Given the description of an element on the screen output the (x, y) to click on. 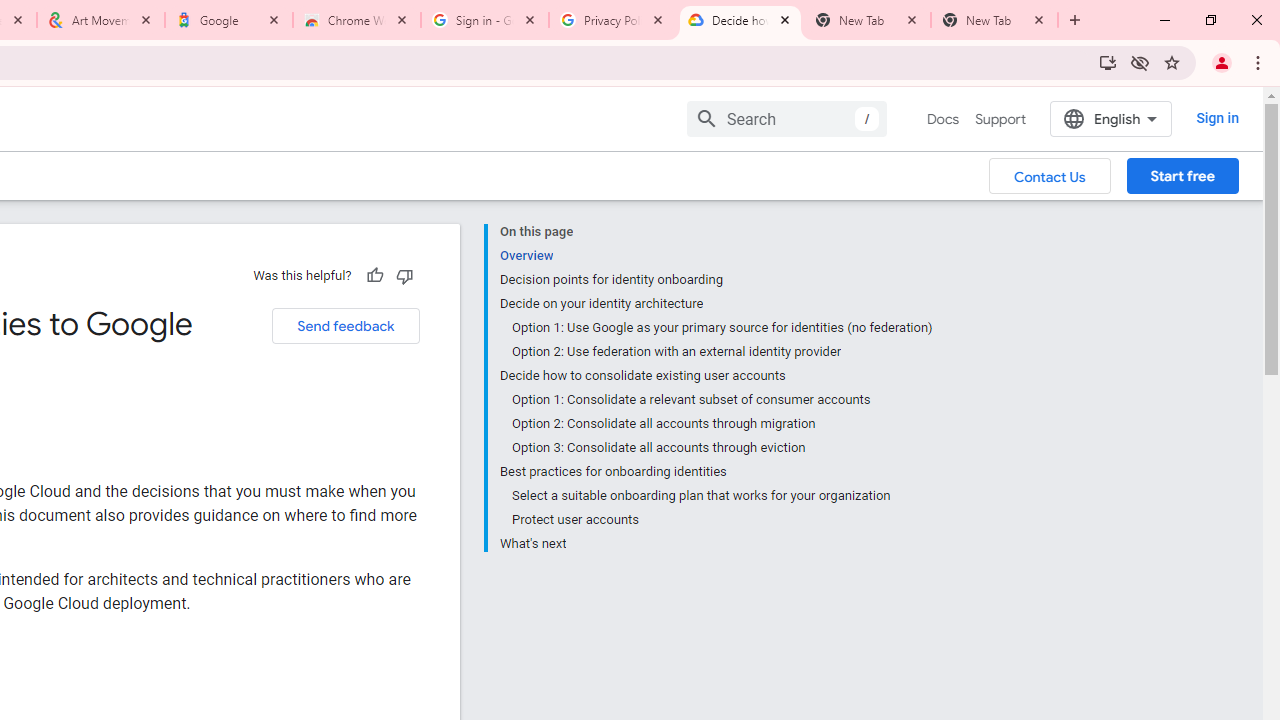
New Tab (994, 20)
Contact Us (1050, 175)
Protect user accounts (721, 520)
Decision points for identity onboarding (716, 279)
Not helpful (404, 275)
Install Google Cloud (1107, 62)
Chrome Web Store - Color themes by Chrome (357, 20)
Option 1: Consolidate a relevant subset of consumer accounts (721, 399)
